Given the description of an element on the screen output the (x, y) to click on. 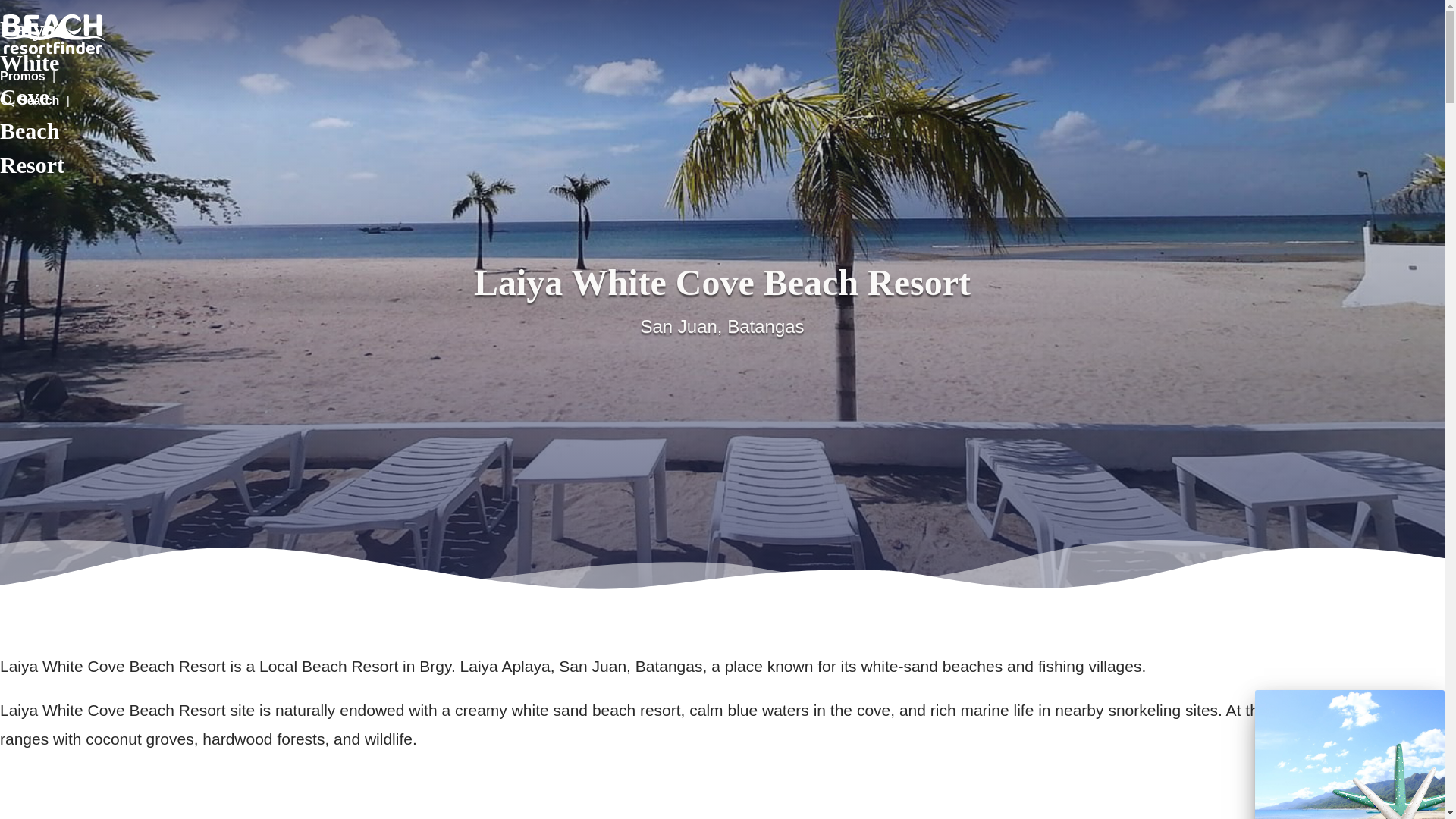
Laiya White Cove Beach Resort (56, 33)
Laiya White Cove Beach Resort (56, 33)
Search (29, 100)
Promos (22, 75)
